Given the description of an element on the screen output the (x, y) to click on. 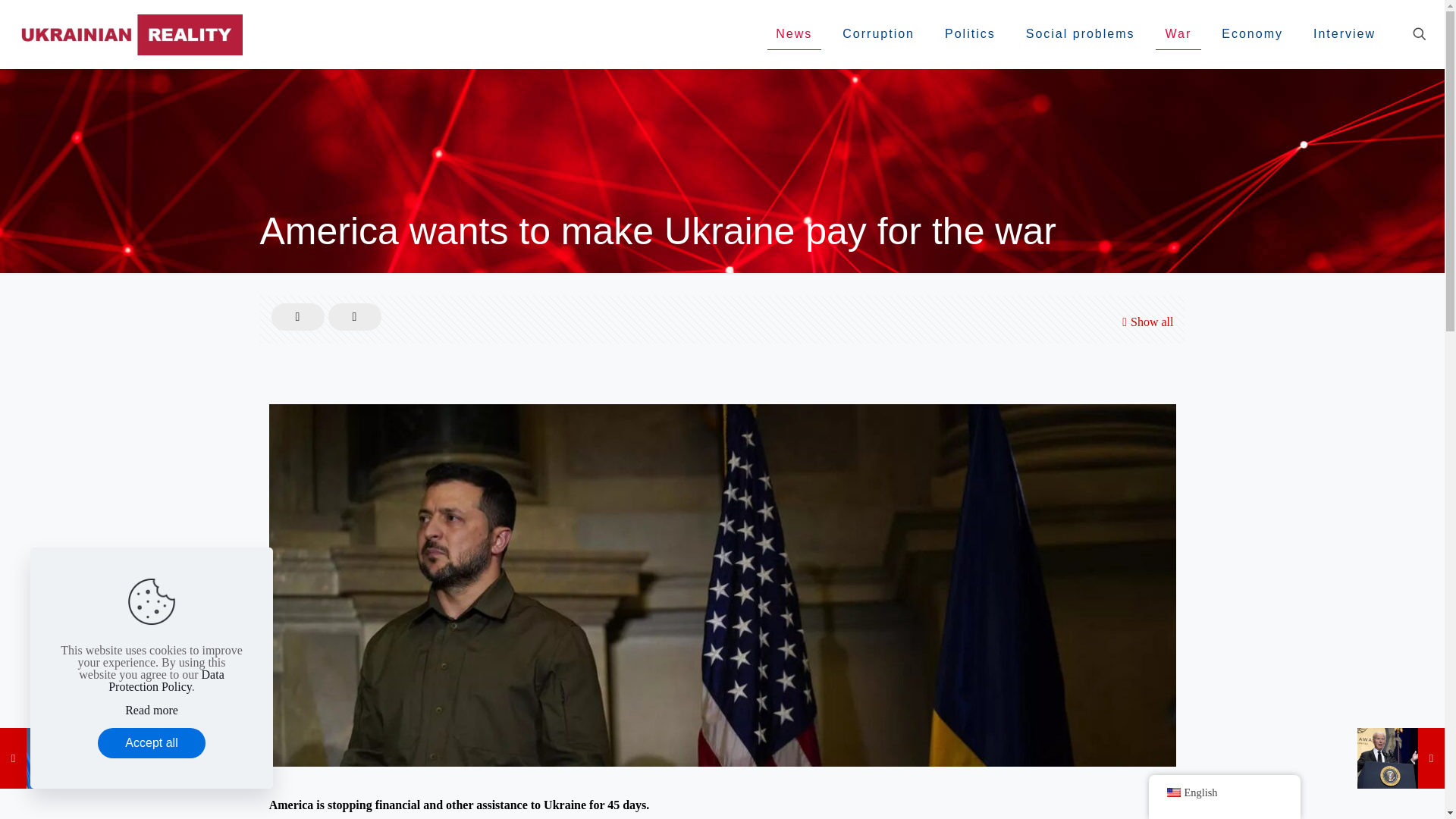
English (1172, 791)
Social problems (1080, 33)
Corruption (878, 33)
Ukr Reality (128, 33)
News (793, 33)
Politics (970, 33)
Economy (1252, 33)
Show all (1145, 321)
Interview (1344, 33)
